Given the description of an element on the screen output the (x, y) to click on. 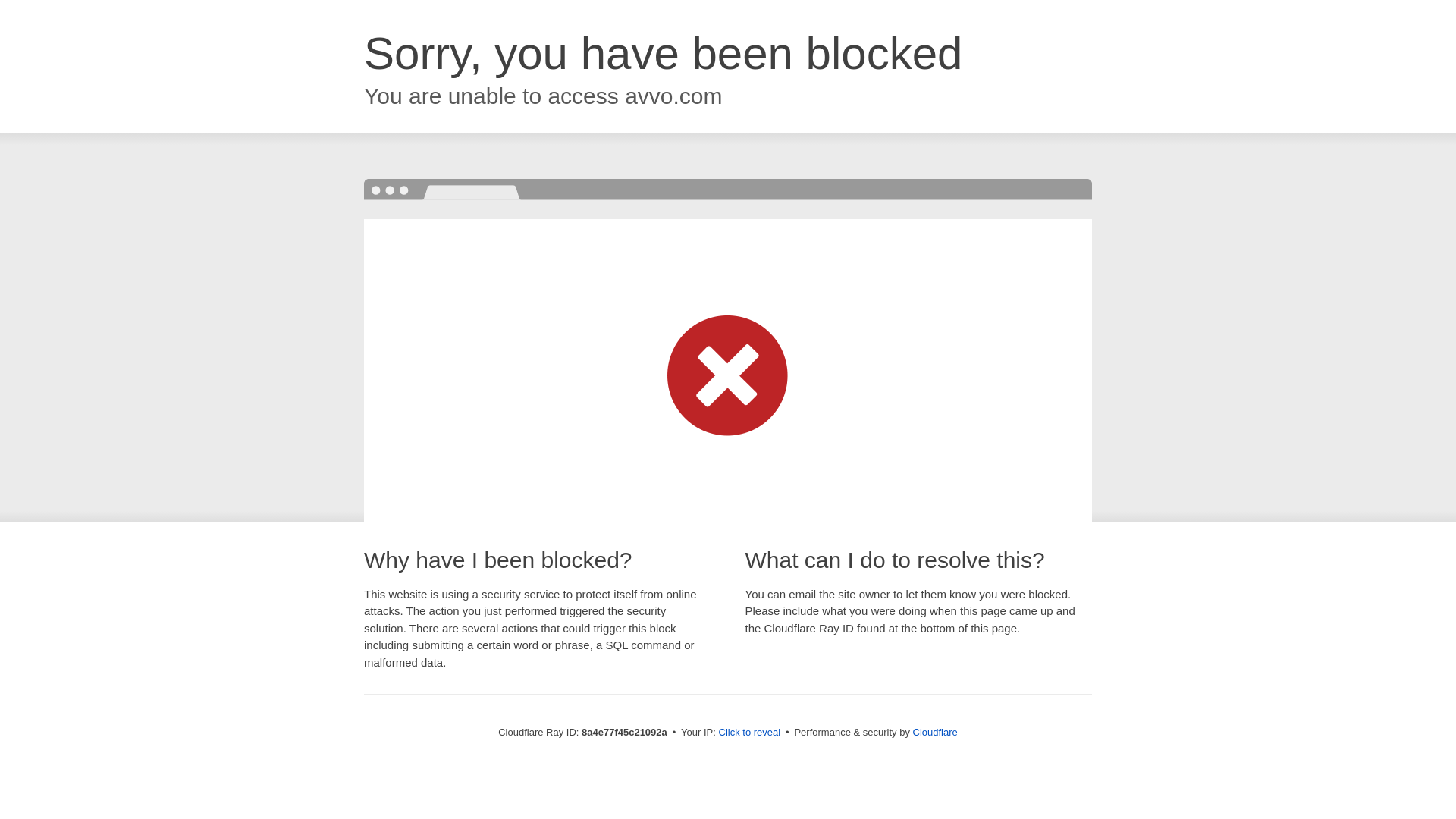
Click to reveal (749, 732)
Cloudflare (935, 731)
